Given the description of an element on the screen output the (x, y) to click on. 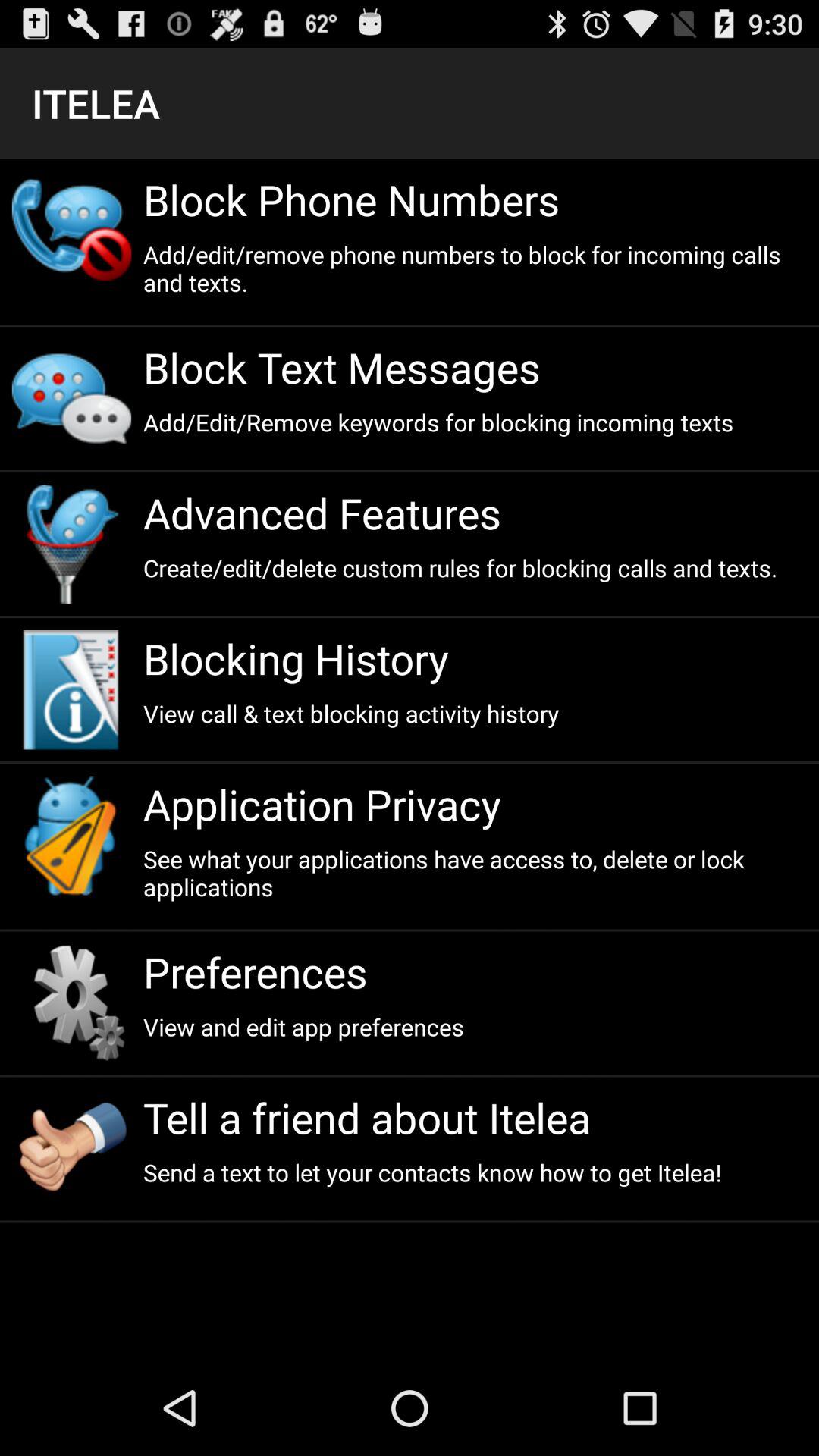
choose the item below the application privacy (475, 872)
